Given the description of an element on the screen output the (x, y) to click on. 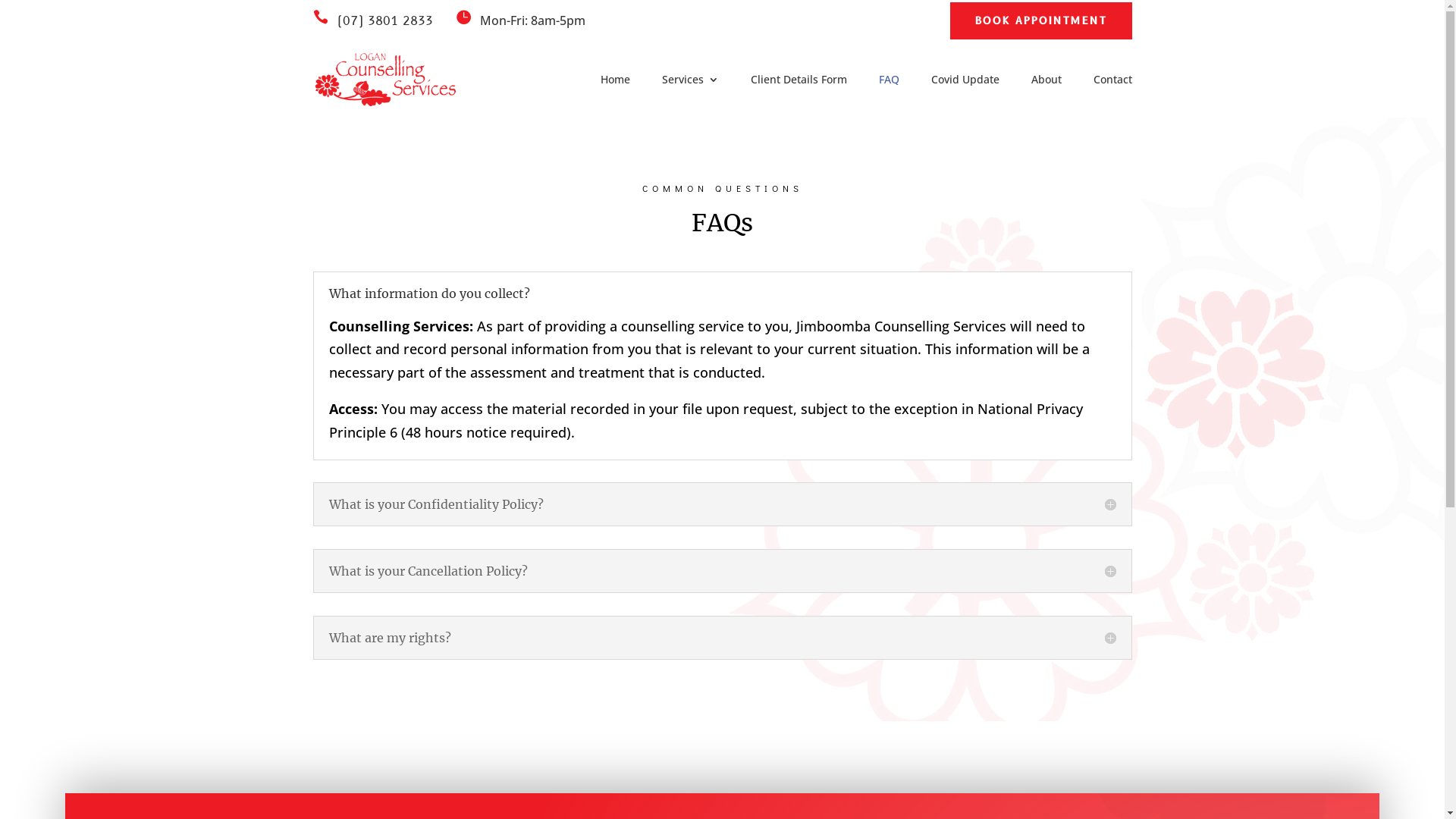
Client Details Form Element type: text (798, 82)
About Element type: text (1046, 82)
(07) 3801 2833 Element type: text (384, 20)
Home Element type: text (615, 82)
Contact Element type: text (1112, 82)
Covid Update Element type: text (965, 82)
Services Element type: text (689, 82)
FAQ Element type: text (888, 82)
BOOK APPOINTMENT Element type: text (1040, 21)
